Given the description of an element on the screen output the (x, y) to click on. 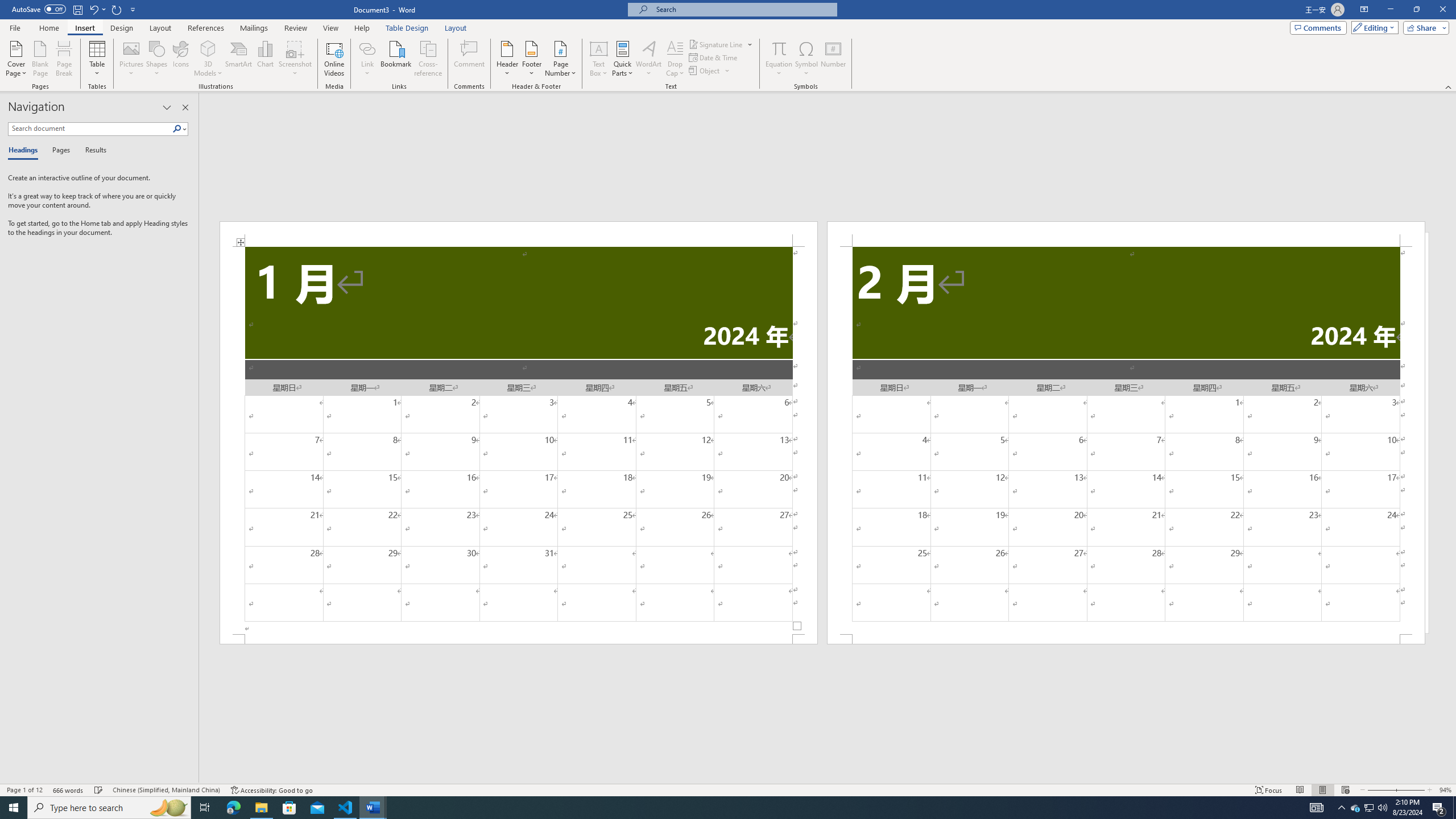
Object... (705, 69)
Number... (833, 58)
Page 1 content (518, 439)
Shapes (156, 58)
